Given the description of an element on the screen output the (x, y) to click on. 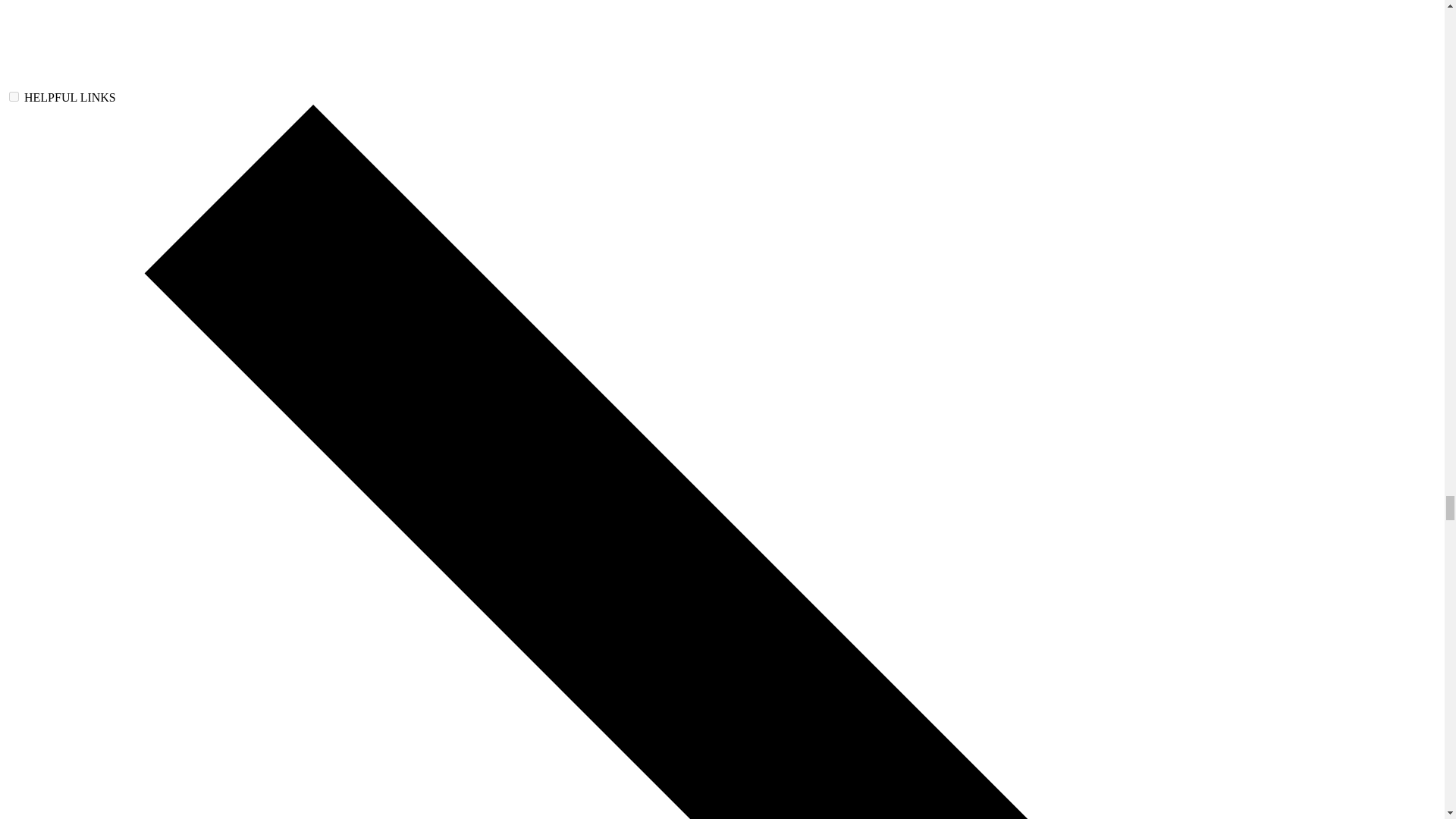
on (13, 96)
